Given the description of an element on the screen output the (x, y) to click on. 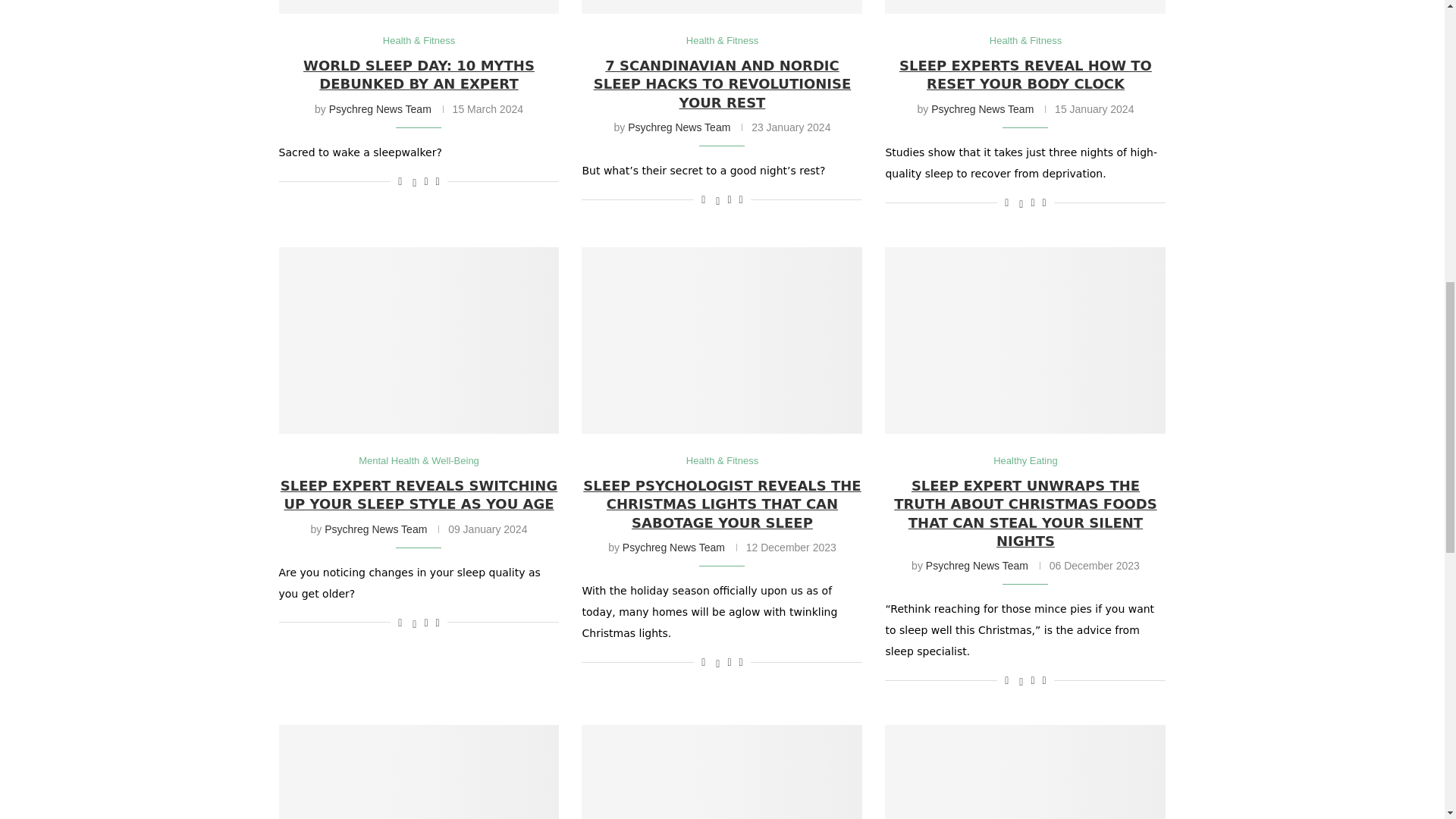
Sleep Experts Reveal How to Reset Your Body Clock (1025, 7)
World Sleep Day: 10 Myths Debunked by an Expert (419, 7)
